Given the description of an element on the screen output the (x, y) to click on. 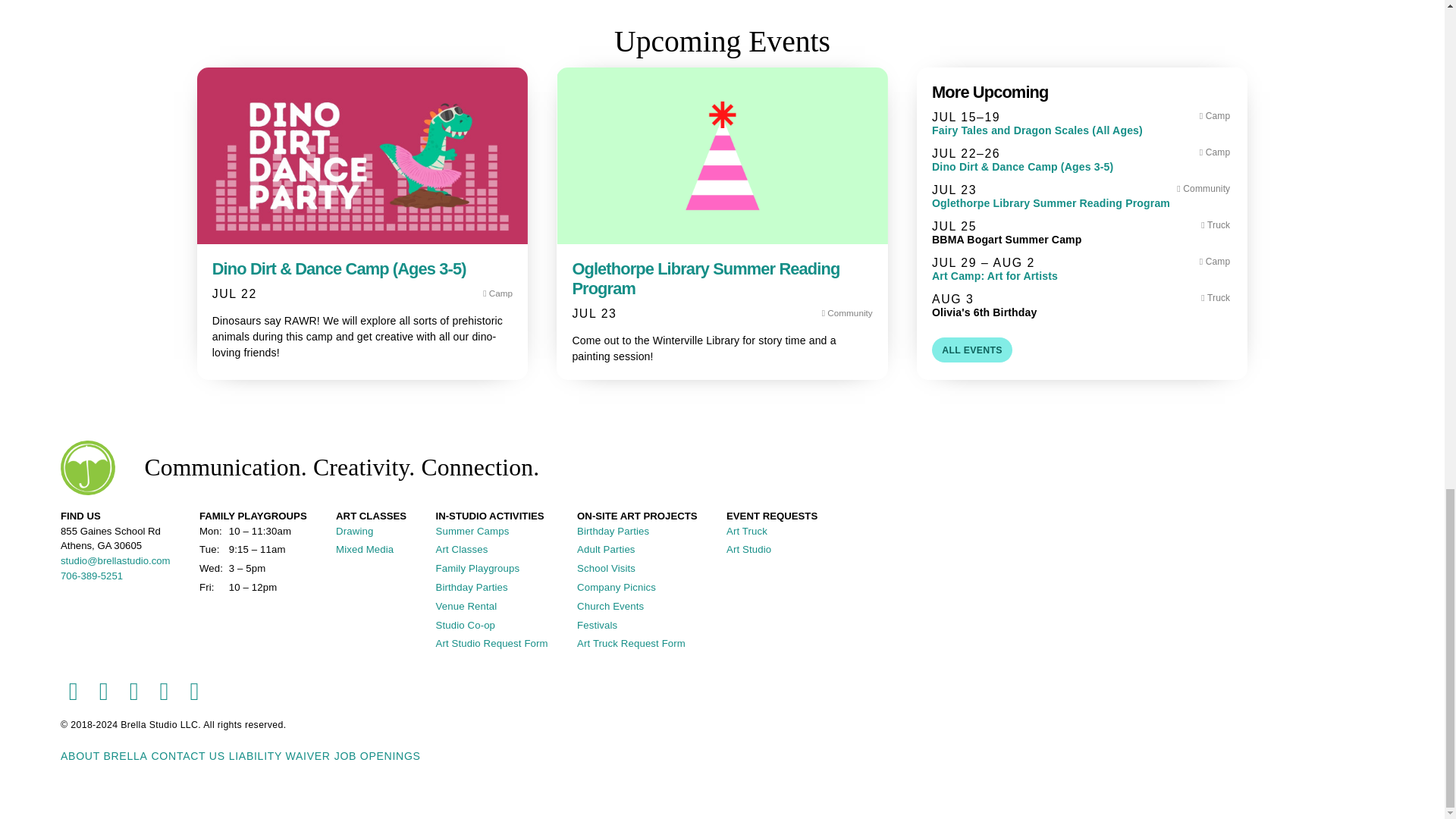
Company Picnics (616, 586)
Oglethorpe Library Summer Reading Program (1081, 203)
ALL EVENTS (971, 349)
Art Studio (748, 549)
School Visits (605, 568)
Studio Co-op (465, 624)
Birthday Parties (471, 586)
Drawing (354, 531)
Venue Rental (466, 605)
Festivals (596, 624)
Art Classes (461, 549)
Art Camp: Art for Artists (1081, 276)
Mixed Media (364, 549)
Summer Camps (472, 531)
Brella Studio - Art Lessons in Athens Oconee (86, 465)
